Given the description of an element on the screen output the (x, y) to click on. 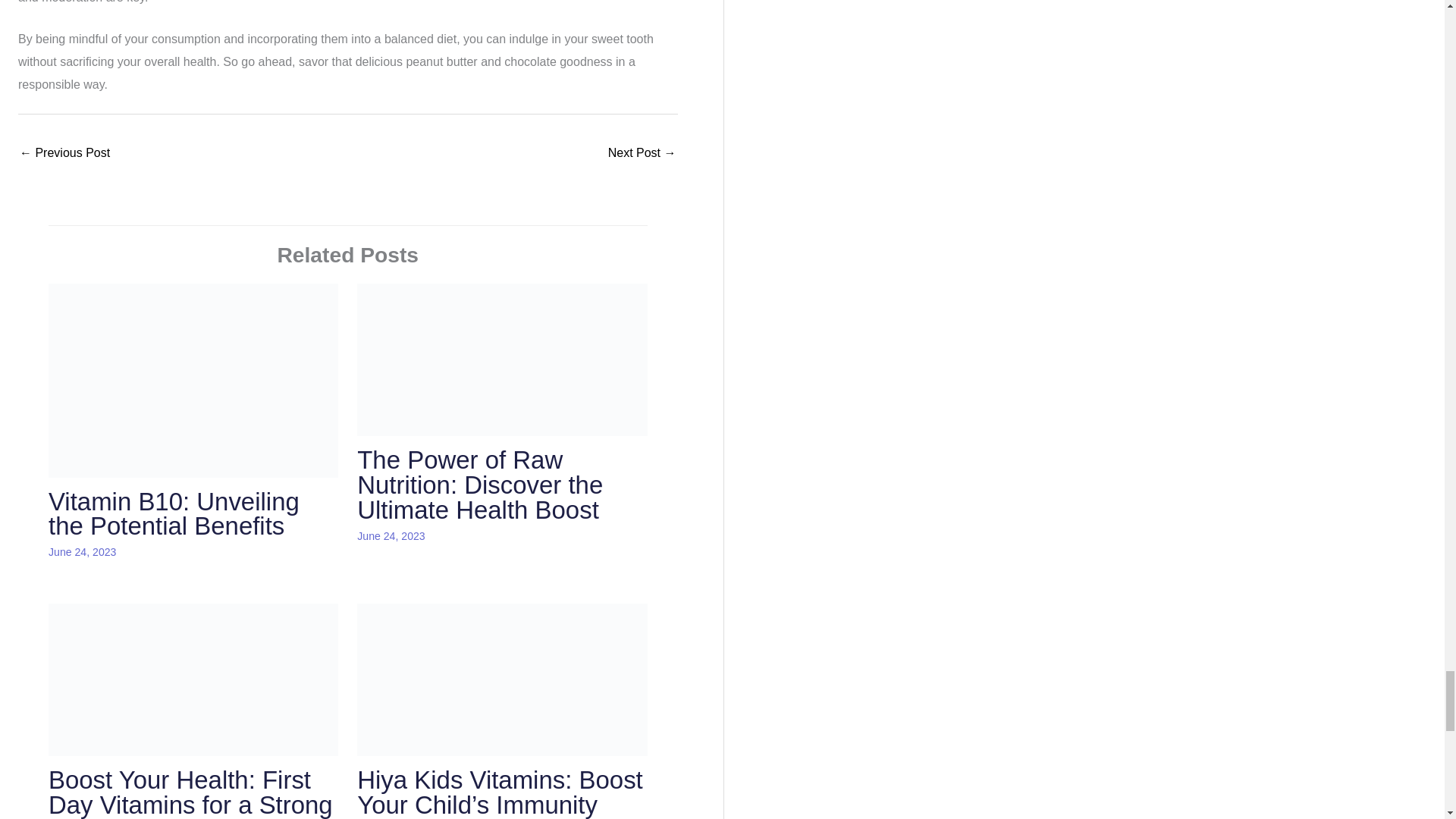
Discover the Surprising Goldfish Nutrition Facts (65, 154)
